Given the description of an element on the screen output the (x, y) to click on. 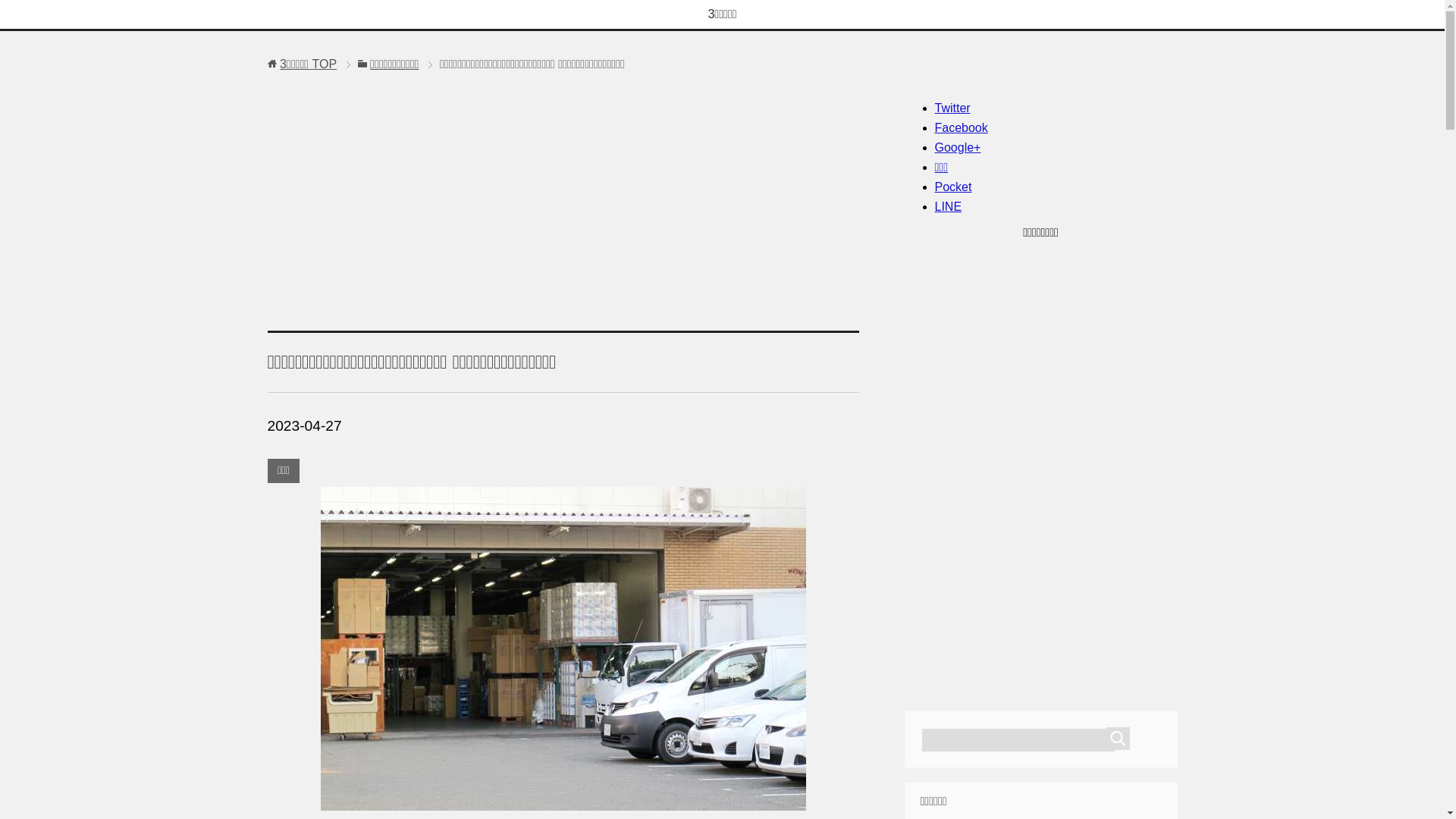
Advertisement Element type: hover (1040, 466)
Facebook Element type: text (960, 127)
LINE Element type: text (947, 206)
Advertisement Element type: hover (562, 195)
Pocket Element type: text (952, 186)
Google+ Element type: text (957, 147)
Twitter Element type: text (951, 107)
